Given the description of an element on the screen output the (x, y) to click on. 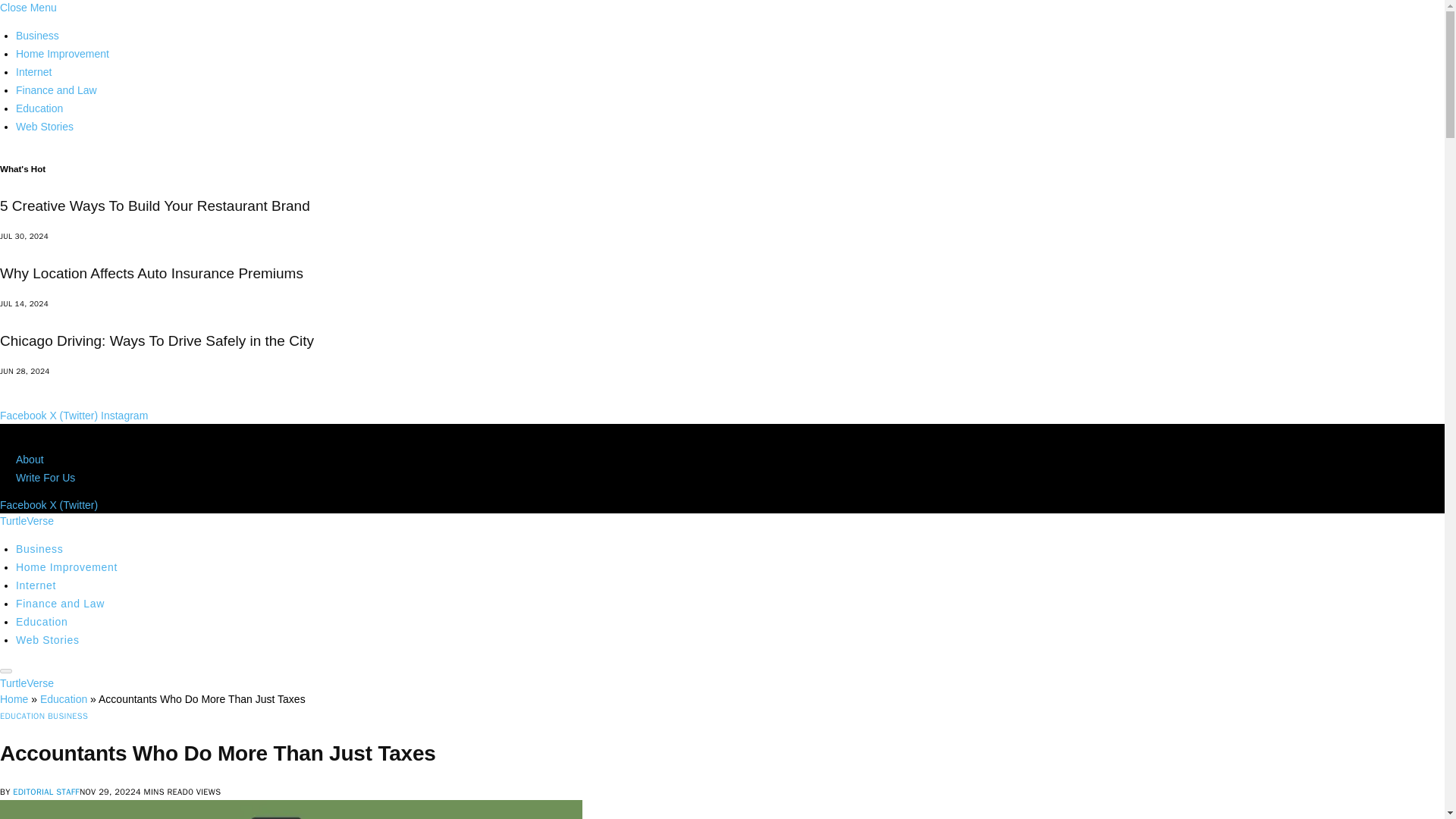
Internet (36, 585)
TurtleVerse (26, 683)
Web Stories (48, 639)
TurtleVerse (26, 521)
Finance and Law (56, 90)
Internet (33, 71)
Close Menu (28, 7)
TurtleVerse (26, 521)
Write For Us (45, 477)
TurtleVerse (26, 683)
